Given the description of an element on the screen output the (x, y) to click on. 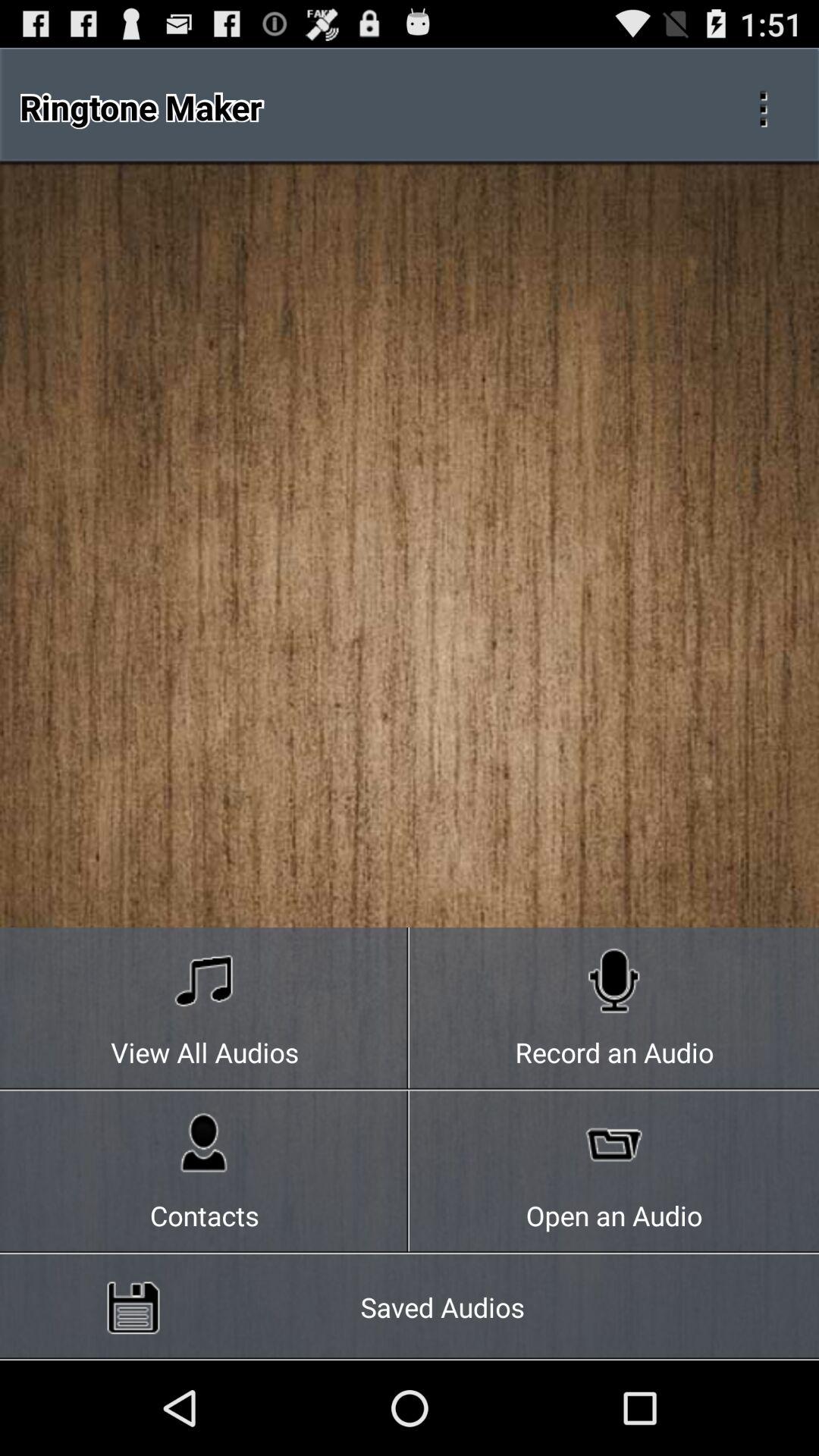
flip until view all audios icon (204, 1008)
